Given the description of an element on the screen output the (x, y) to click on. 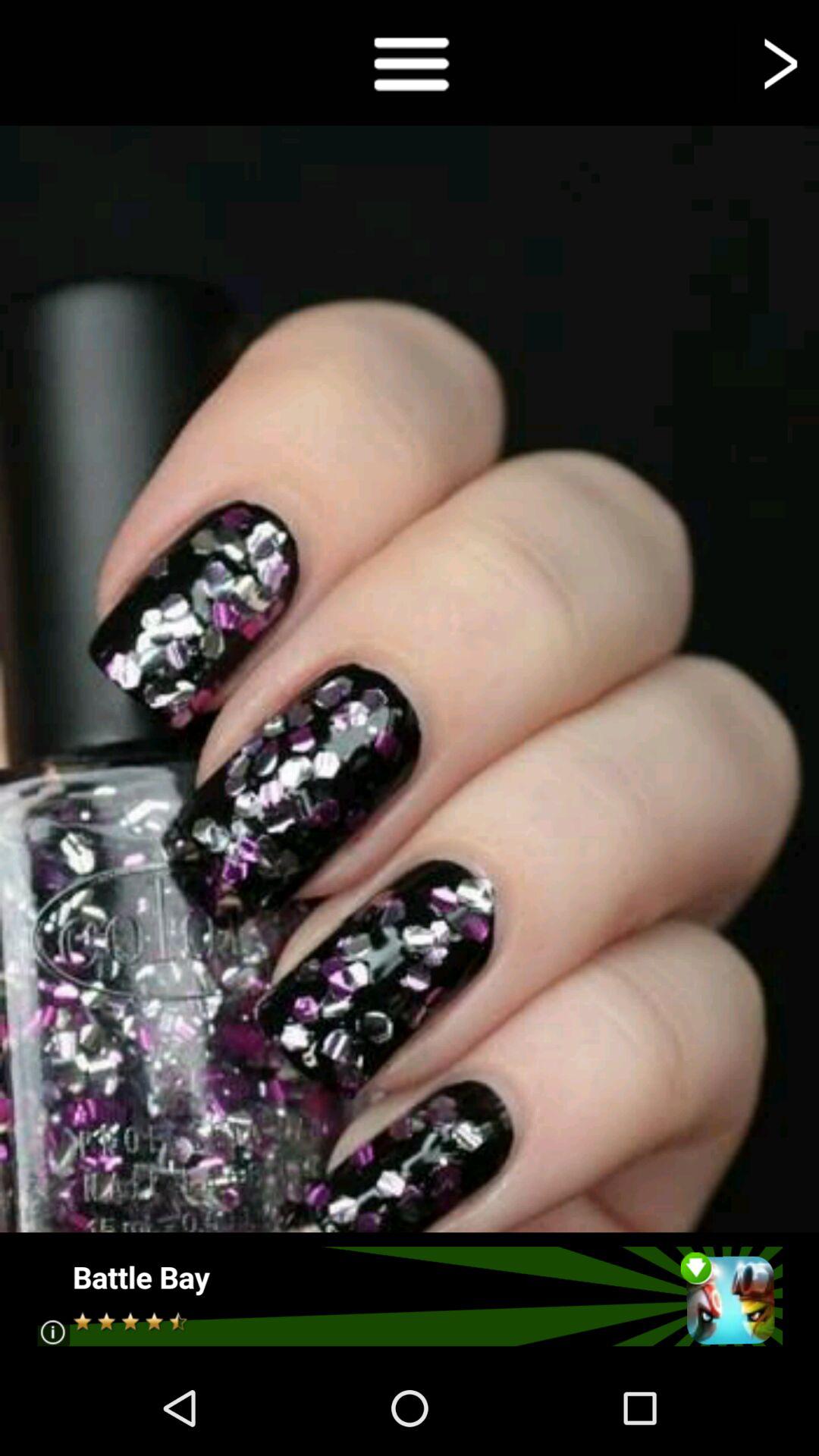
explore menu options (409, 62)
